Given the description of an element on the screen output the (x, y) to click on. 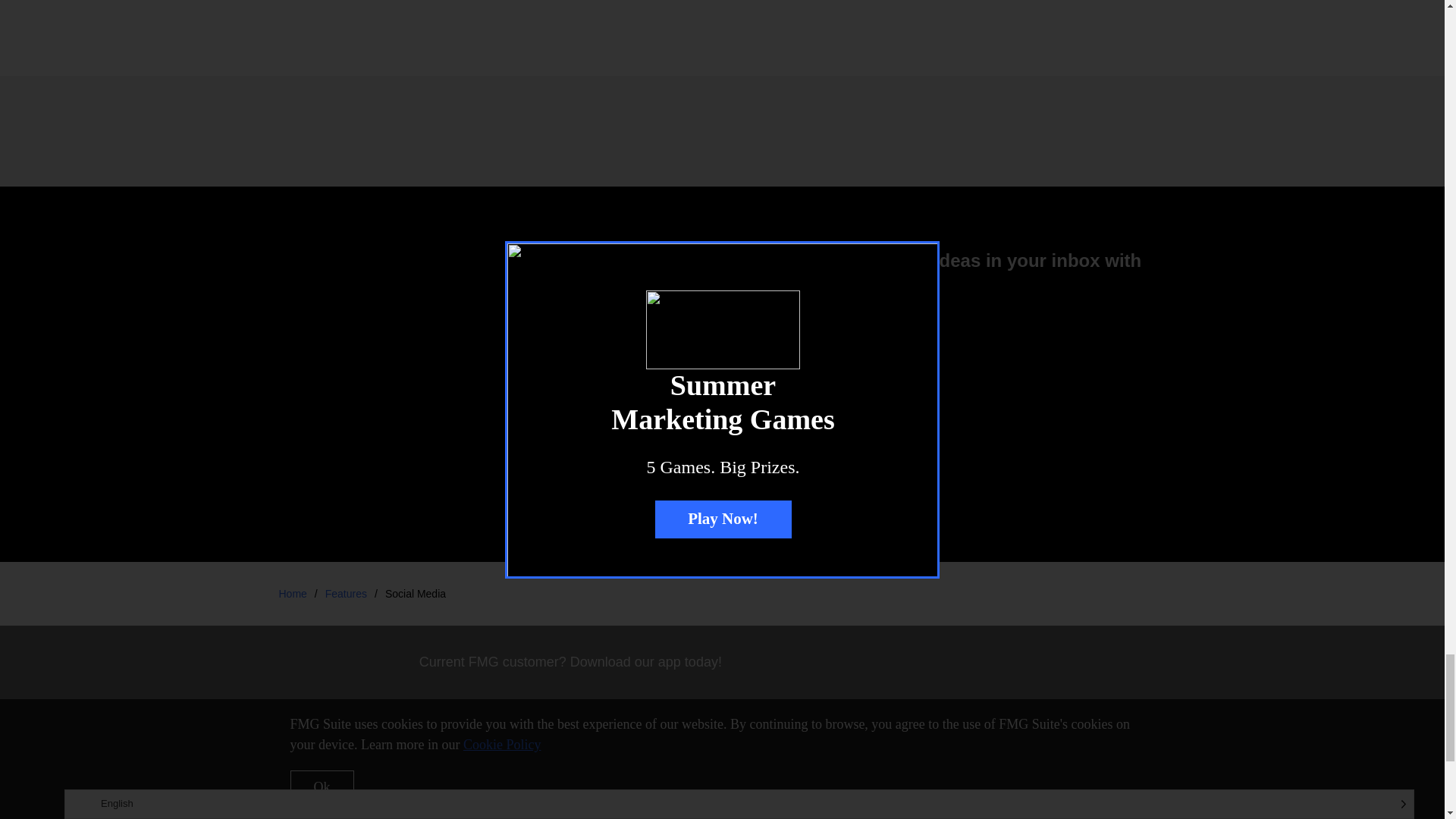
FMG Logo (325, 805)
